Given the description of an element on the screen output the (x, y) to click on. 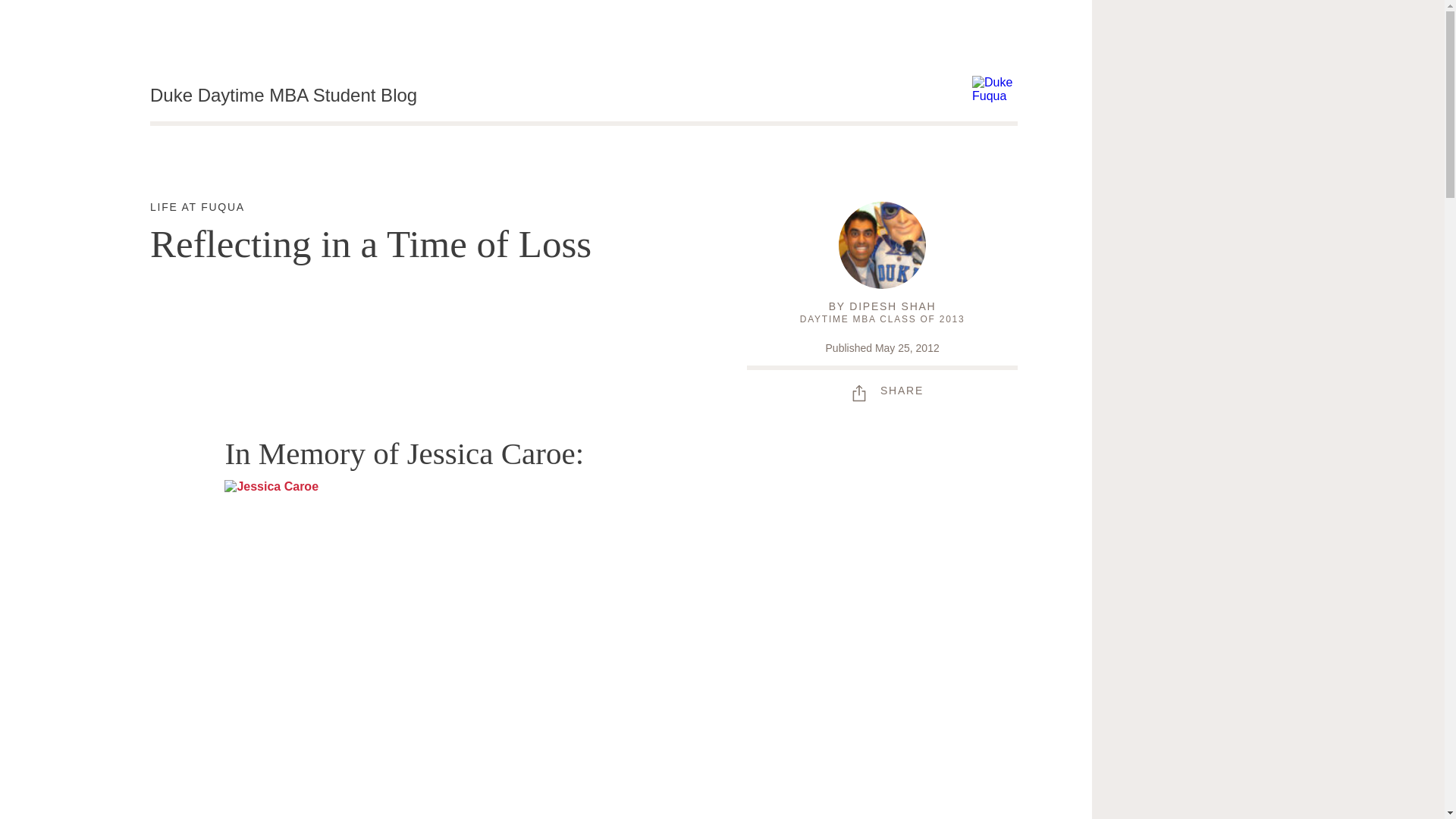
Duke Daytime MBA Student Blog (282, 95)
DIPESH SHAH (196, 207)
SHARE (892, 306)
